Given the description of an element on the screen output the (x, y) to click on. 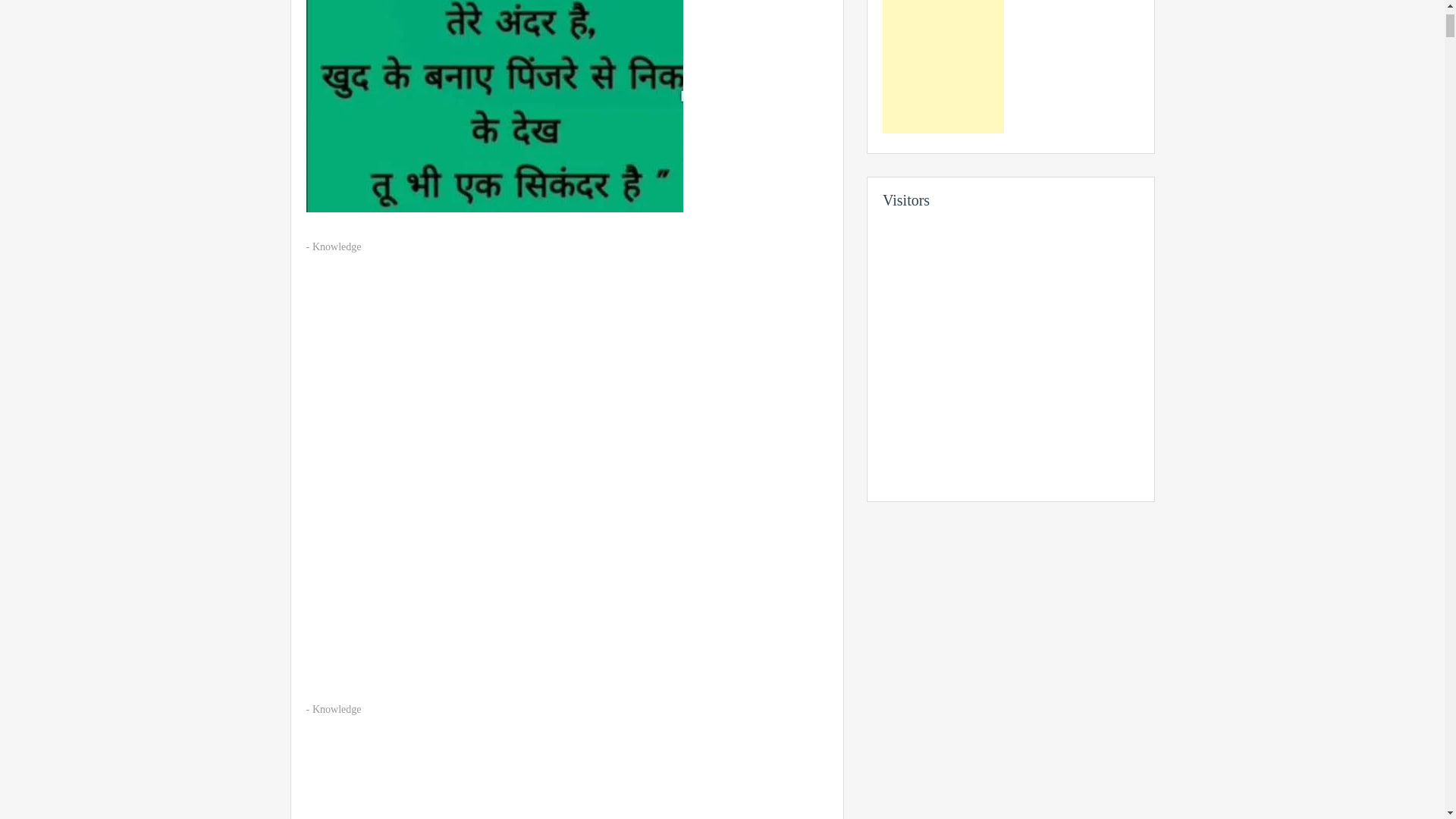
Knowledge (337, 246)
Knowledge (337, 708)
